Given the description of an element on the screen output the (x, y) to click on. 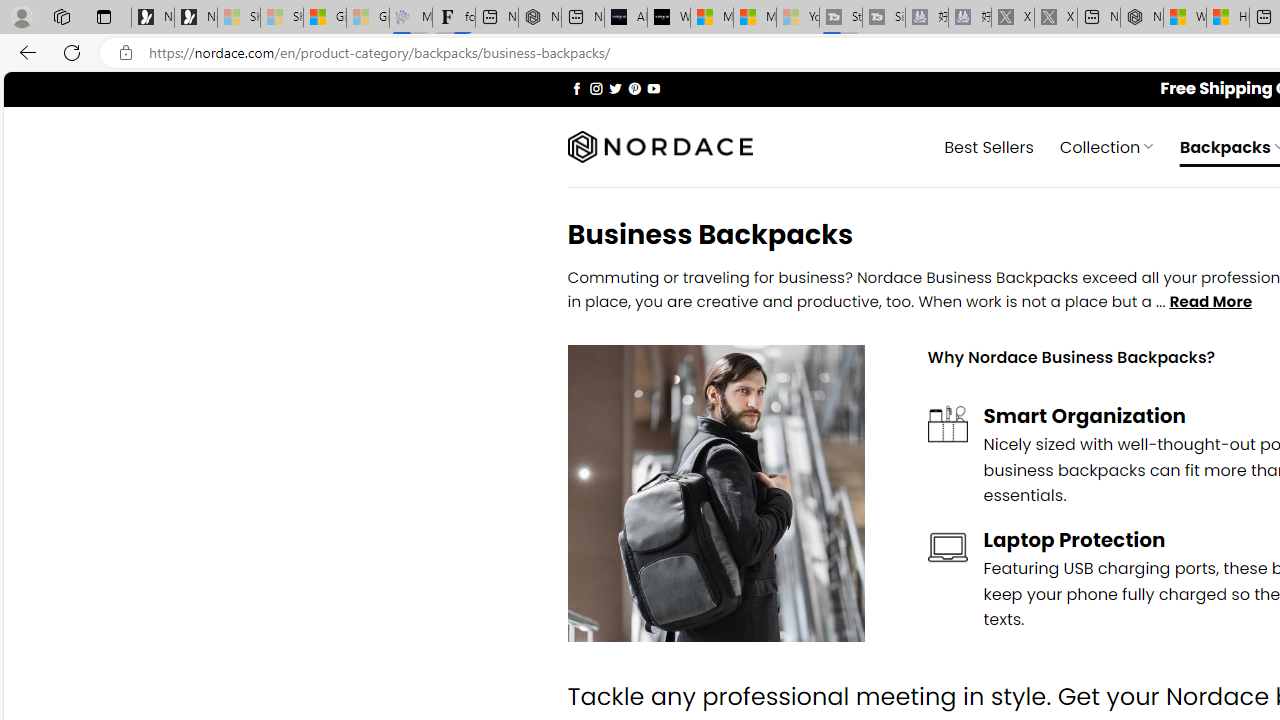
Nordace - My Account (1142, 17)
  Best Sellers (989, 146)
